Given the description of an element on the screen output the (x, y) to click on. 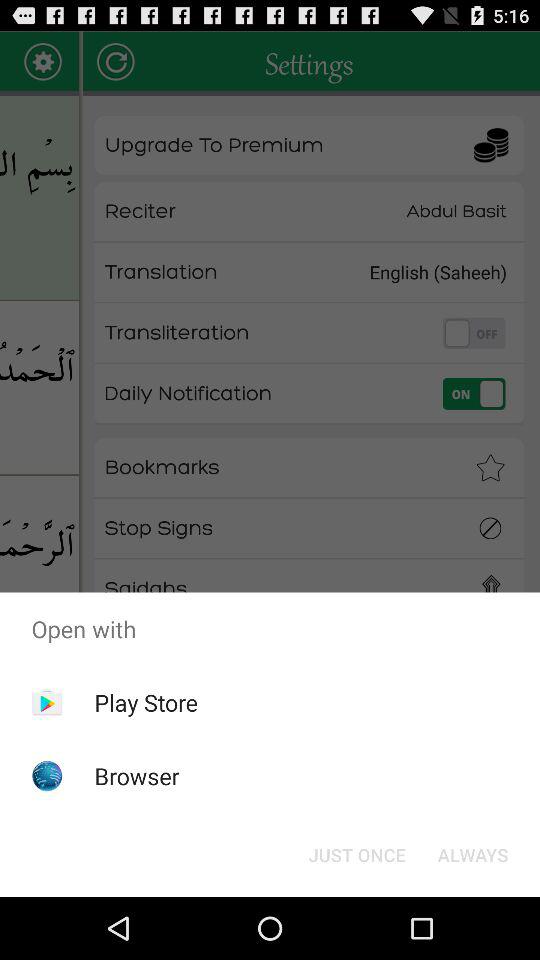
select the item below the open with item (472, 854)
